Given the description of an element on the screen output the (x, y) to click on. 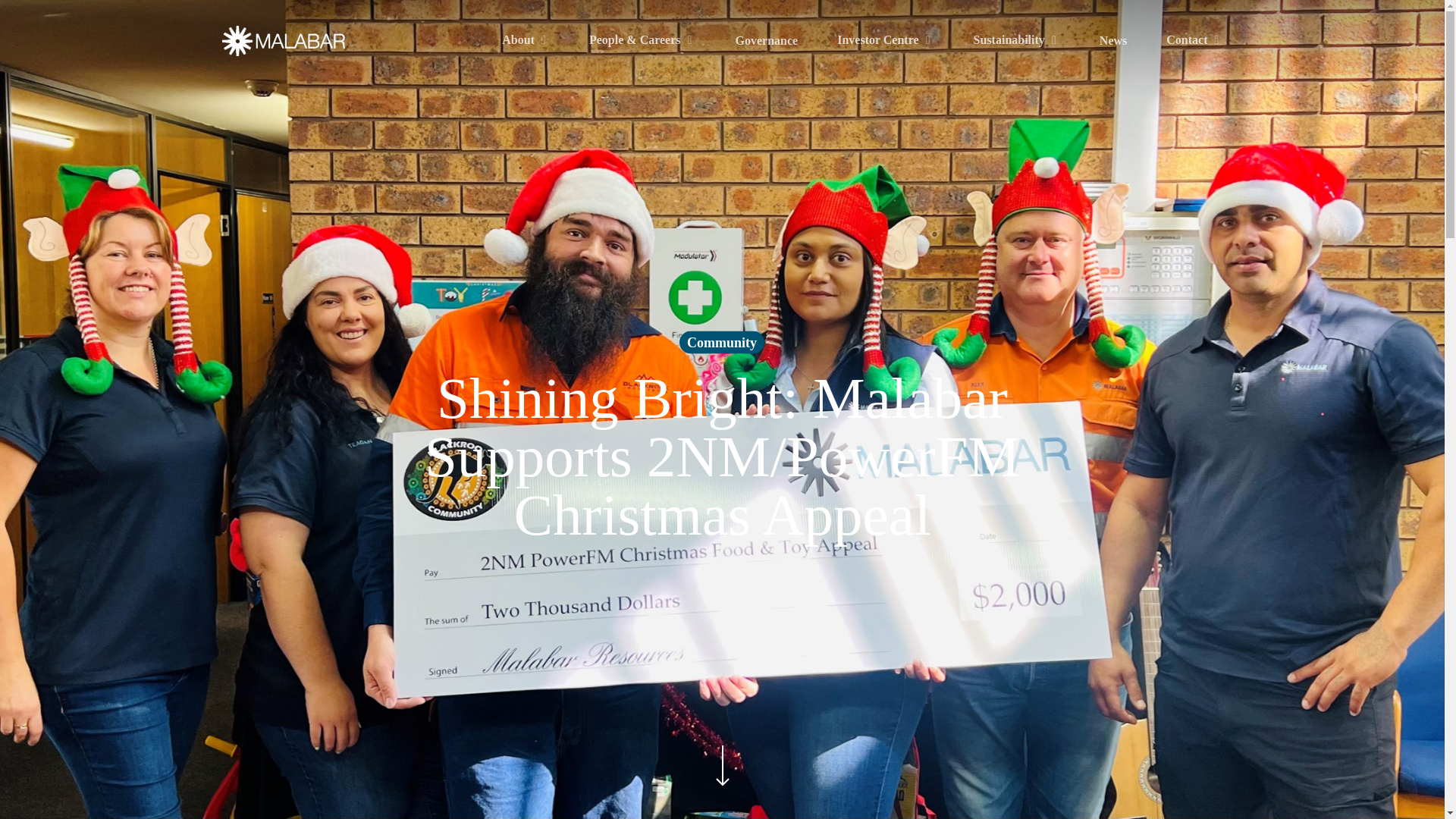
News (1112, 40)
Community (721, 349)
About (526, 40)
Contact (1194, 40)
Investor Centre (885, 40)
Sustainability (1016, 40)
Governance (766, 40)
